Given the description of an element on the screen output the (x, y) to click on. 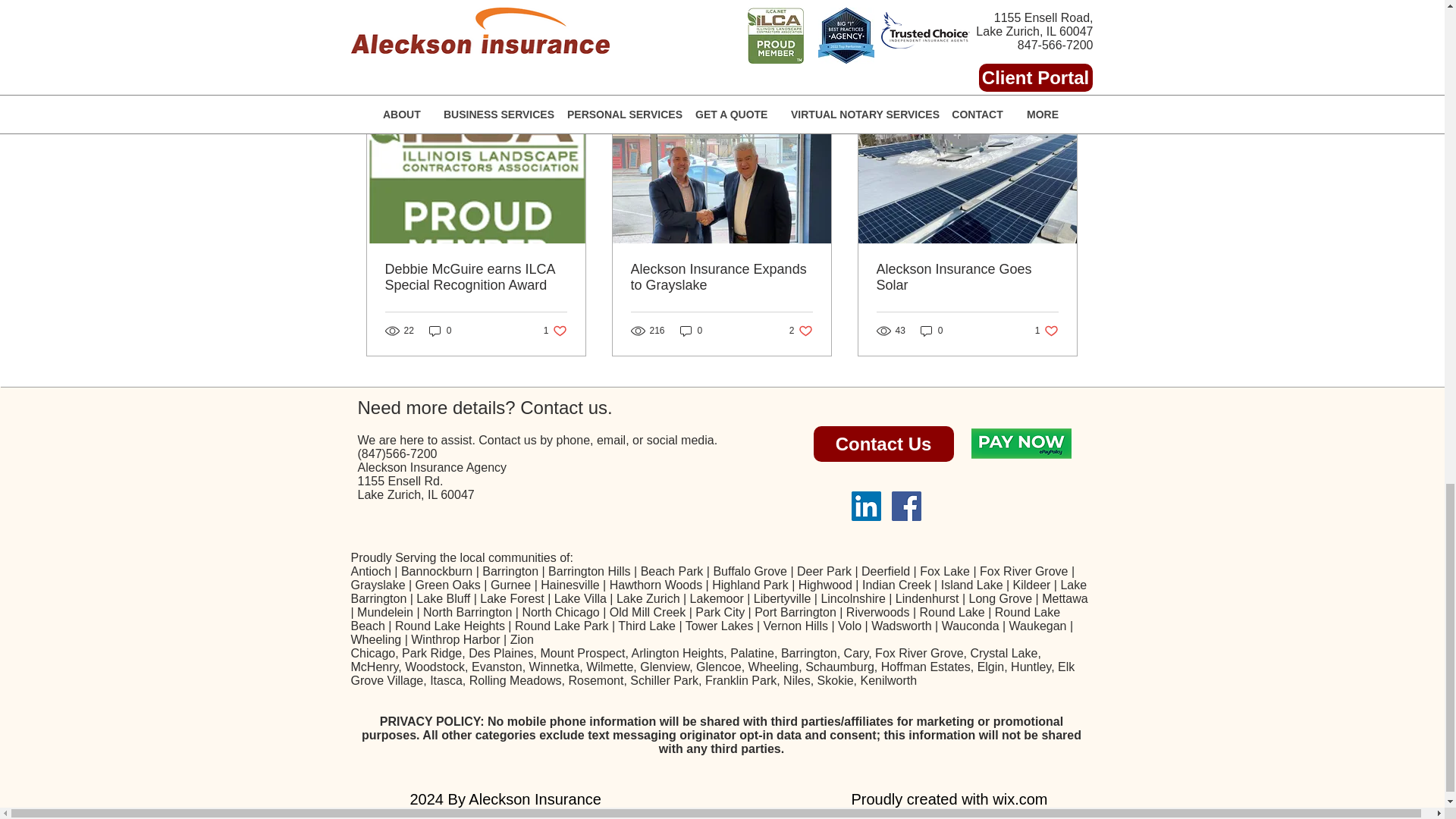
0 (440, 330)
0 (800, 330)
Debbie McGuire earns ILCA Special Recognition Award (555, 330)
Aleckson Insurance Goes Solar (931, 330)
Contact Us (476, 277)
0 (967, 277)
Aleckson Insurance Expands to Grayslake (882, 443)
See All (691, 330)
